Given the description of an element on the screen output the (x, y) to click on. 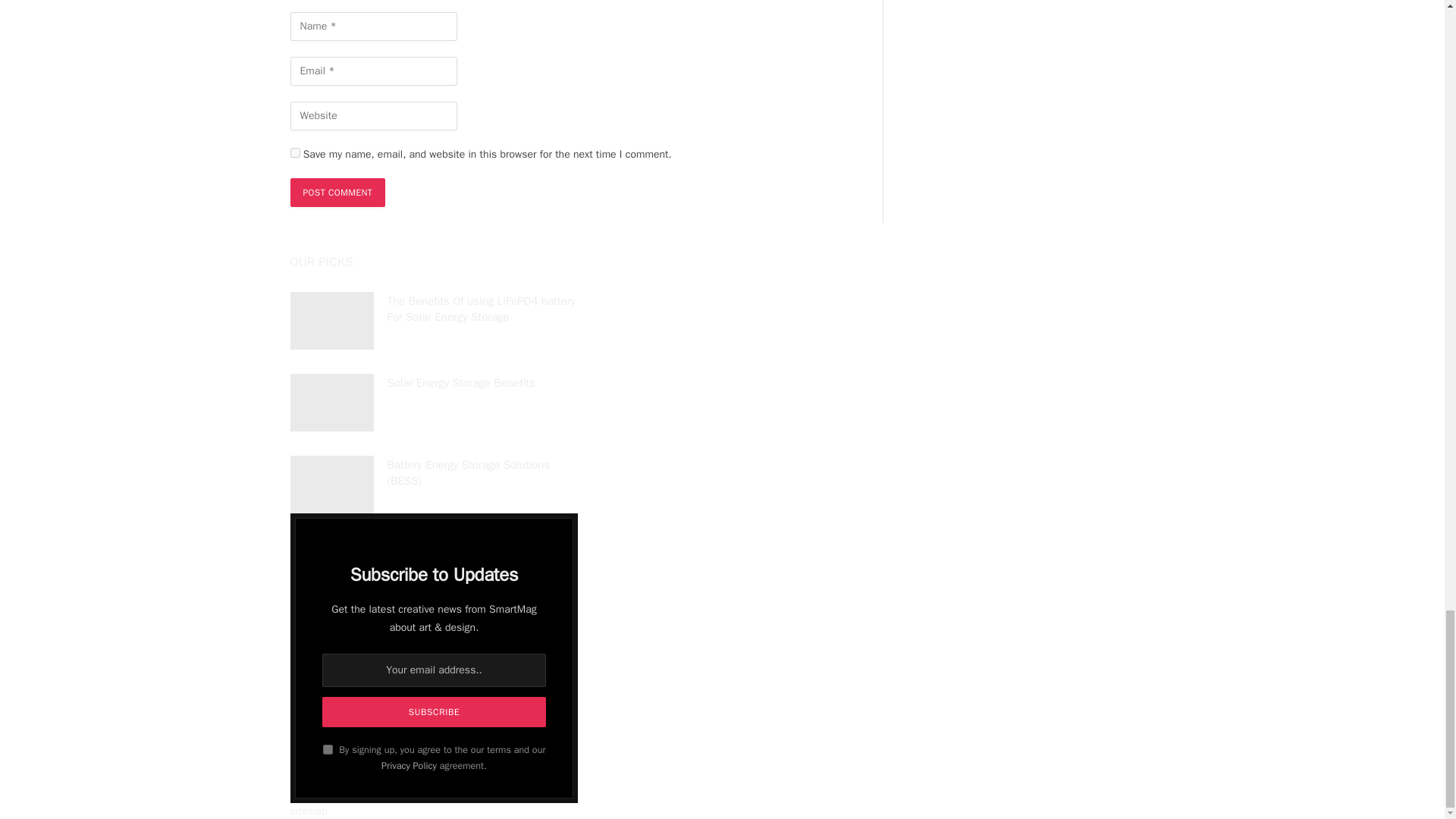
yes (294, 153)
on (328, 749)
Subscribe (432, 711)
Post Comment (337, 192)
